Given the description of an element on the screen output the (x, y) to click on. 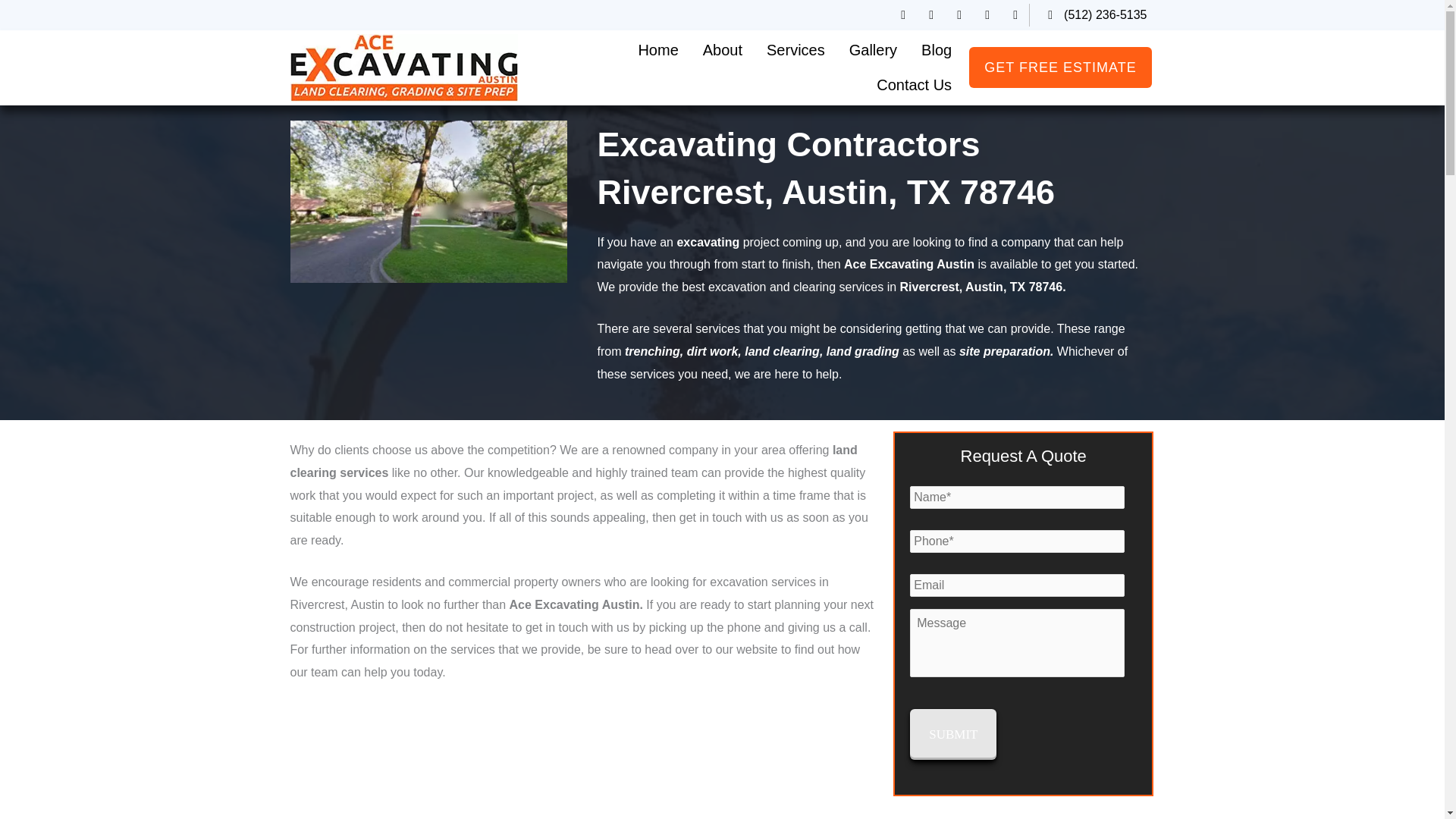
Home (658, 49)
Blog (935, 49)
GET FREE ESTIMATE (1060, 66)
Submit (952, 734)
Gallery (872, 49)
About (722, 49)
Submit (952, 734)
Contact Us (913, 84)
Services (795, 49)
